Given the description of an element on the screen output the (x, y) to click on. 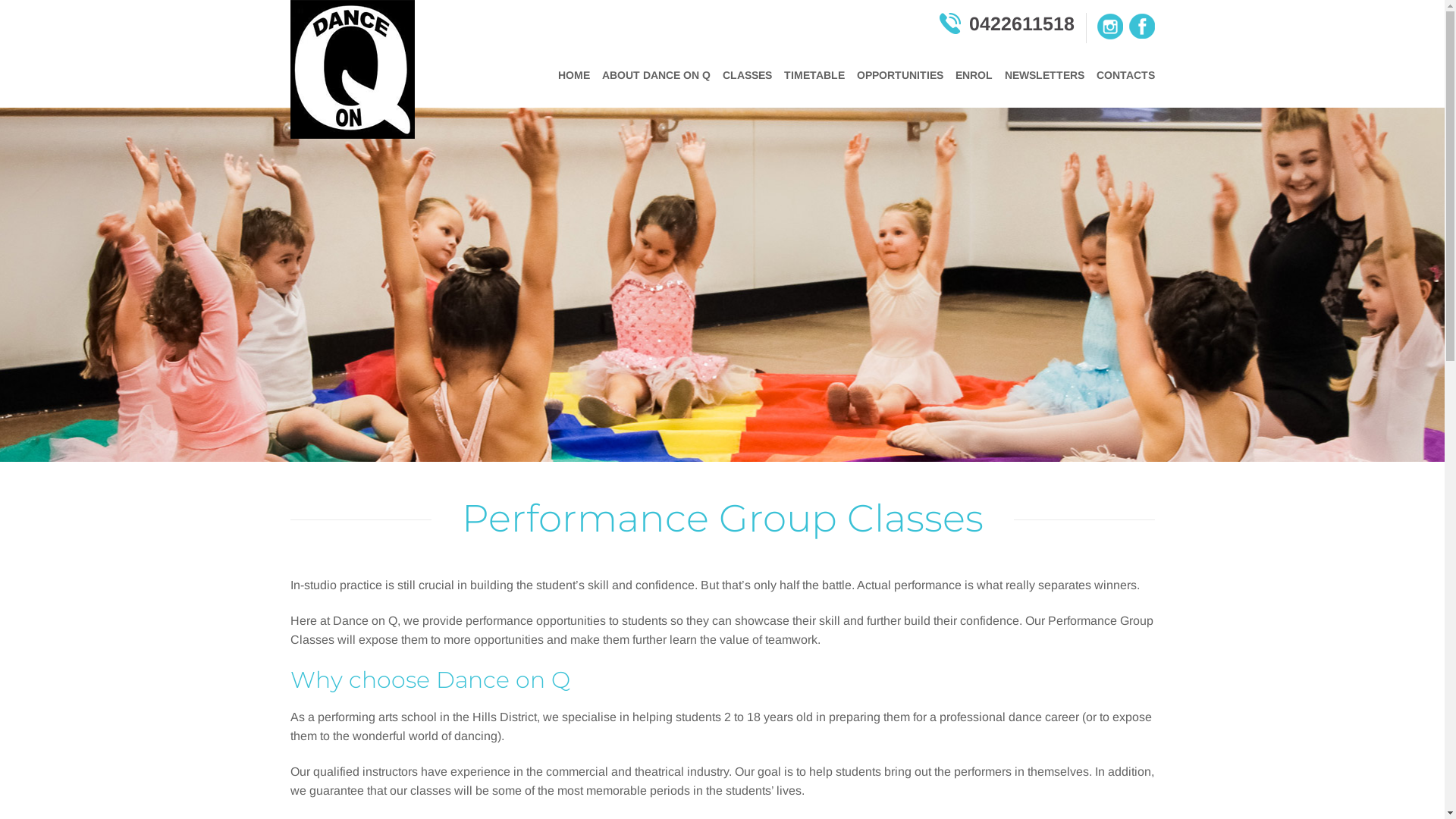
CONTACTS Element type: text (1125, 75)
HOME Element type: text (573, 75)
ABOUT DANCE ON Q Element type: text (656, 75)
TIMETABLE Element type: text (814, 75)
OPPORTUNITIES Element type: text (899, 75)
ENROL Element type: text (973, 75)
CLASSES Element type: text (746, 75)
NEWSLETTERS Element type: text (1043, 75)
0422611518 Element type: text (1011, 23)
